Given the description of an element on the screen output the (x, y) to click on. 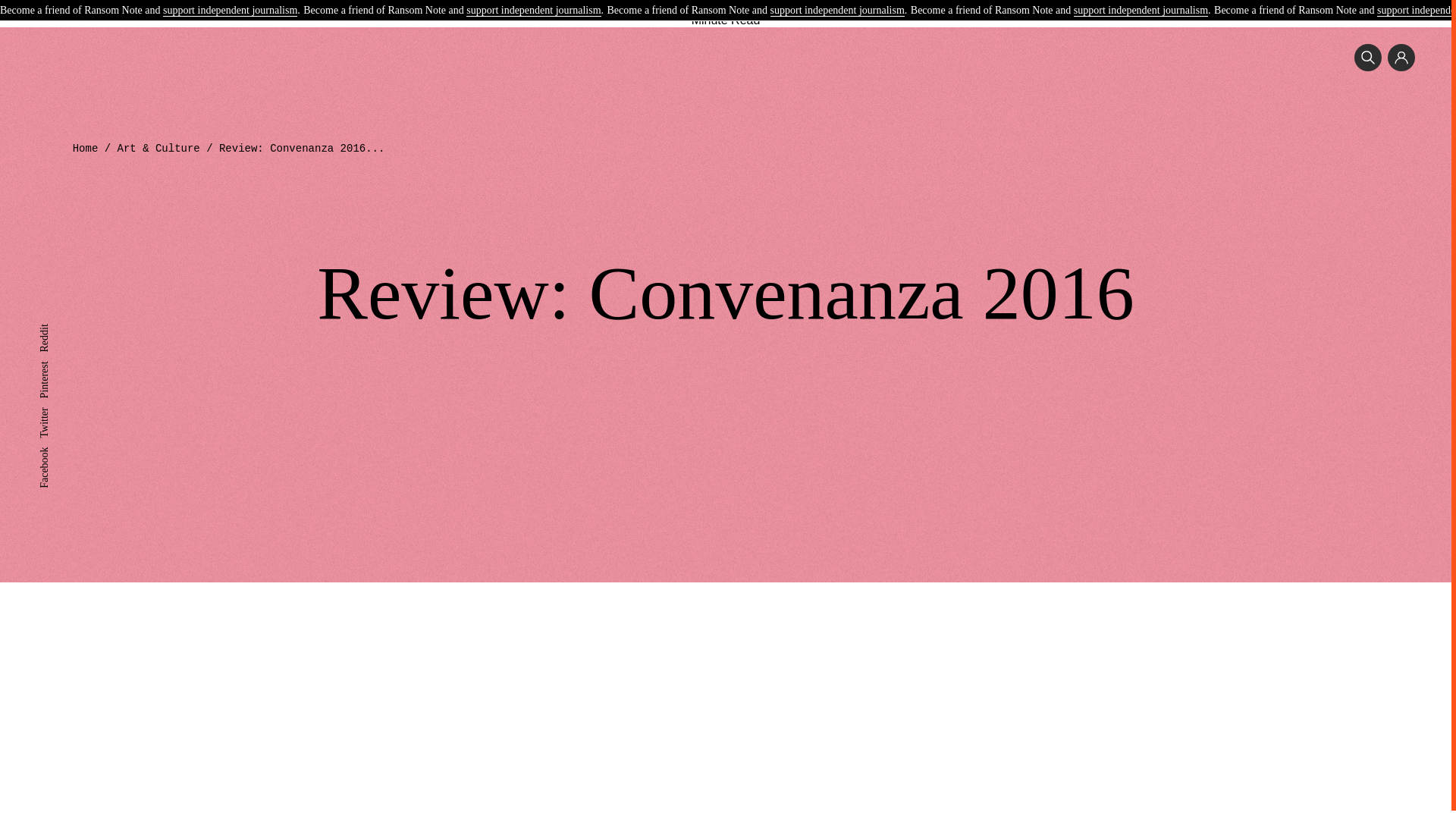
Facebook (59, 452)
Home (85, 148)
support independent journalism (1141, 10)
support independent journalism (532, 10)
support independent journalism (230, 10)
Pinterest (57, 367)
Twitter (53, 413)
Music (558, 3)
support independent journalism (837, 10)
Shop (895, 3)
